Given the description of an element on the screen output the (x, y) to click on. 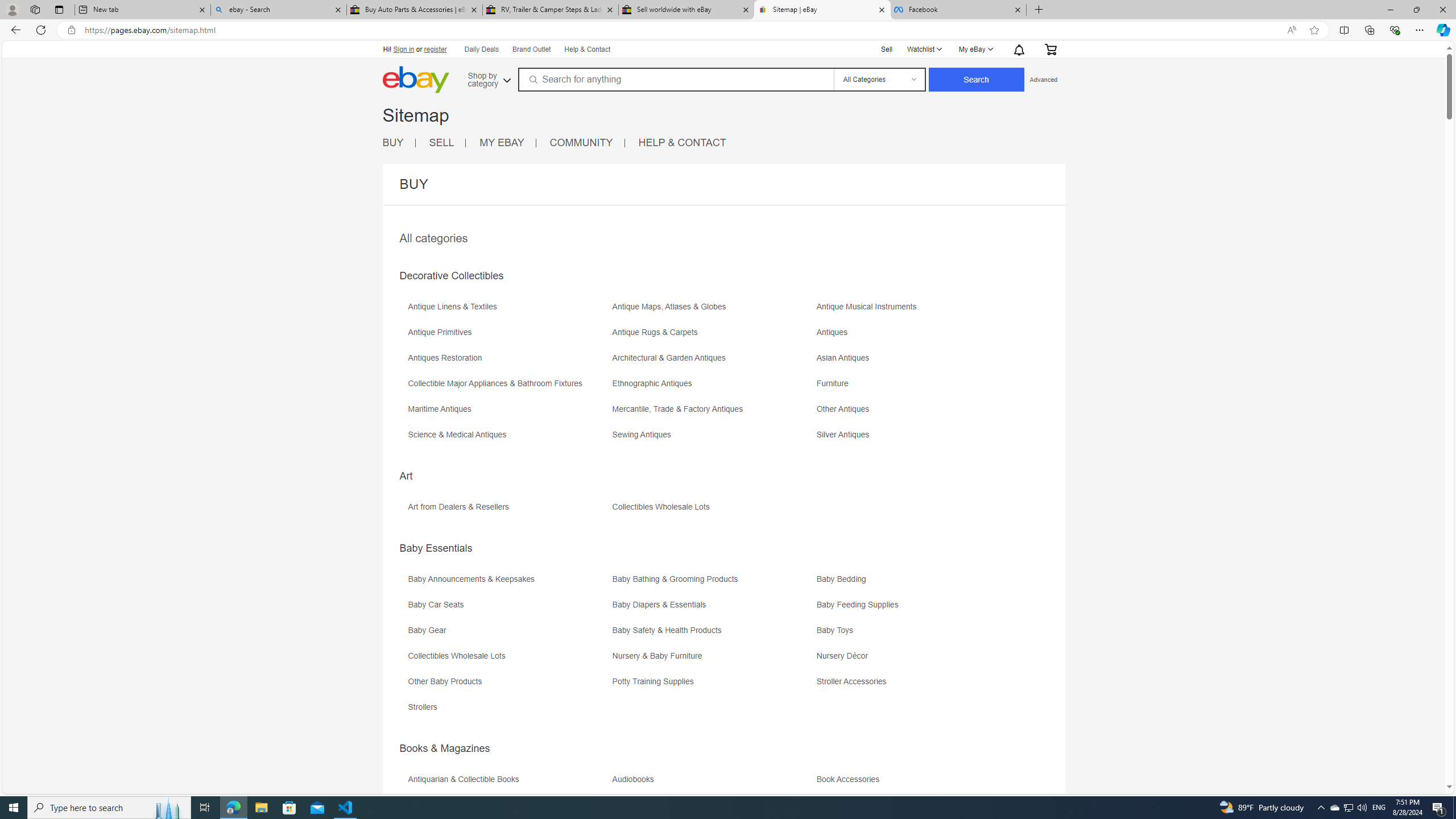
Baby Toys (837, 630)
Baby Toys (917, 634)
Baby Diapers & Essentials (712, 608)
HELP & CONTACT (681, 142)
Sign in (403, 49)
Baby Announcements & Keepsakes (473, 579)
Architectural & Garden Antiques (712, 361)
Maritime Antiques (442, 408)
Sewing Antiques (712, 438)
Notification (1018, 49)
Notification (1019, 49)
COMMUNITY (580, 142)
Baby Safety & Health Products (669, 630)
Baby Bathing & Grooming Products (677, 579)
Help & Contact (586, 49)
